Given the description of an element on the screen output the (x, y) to click on. 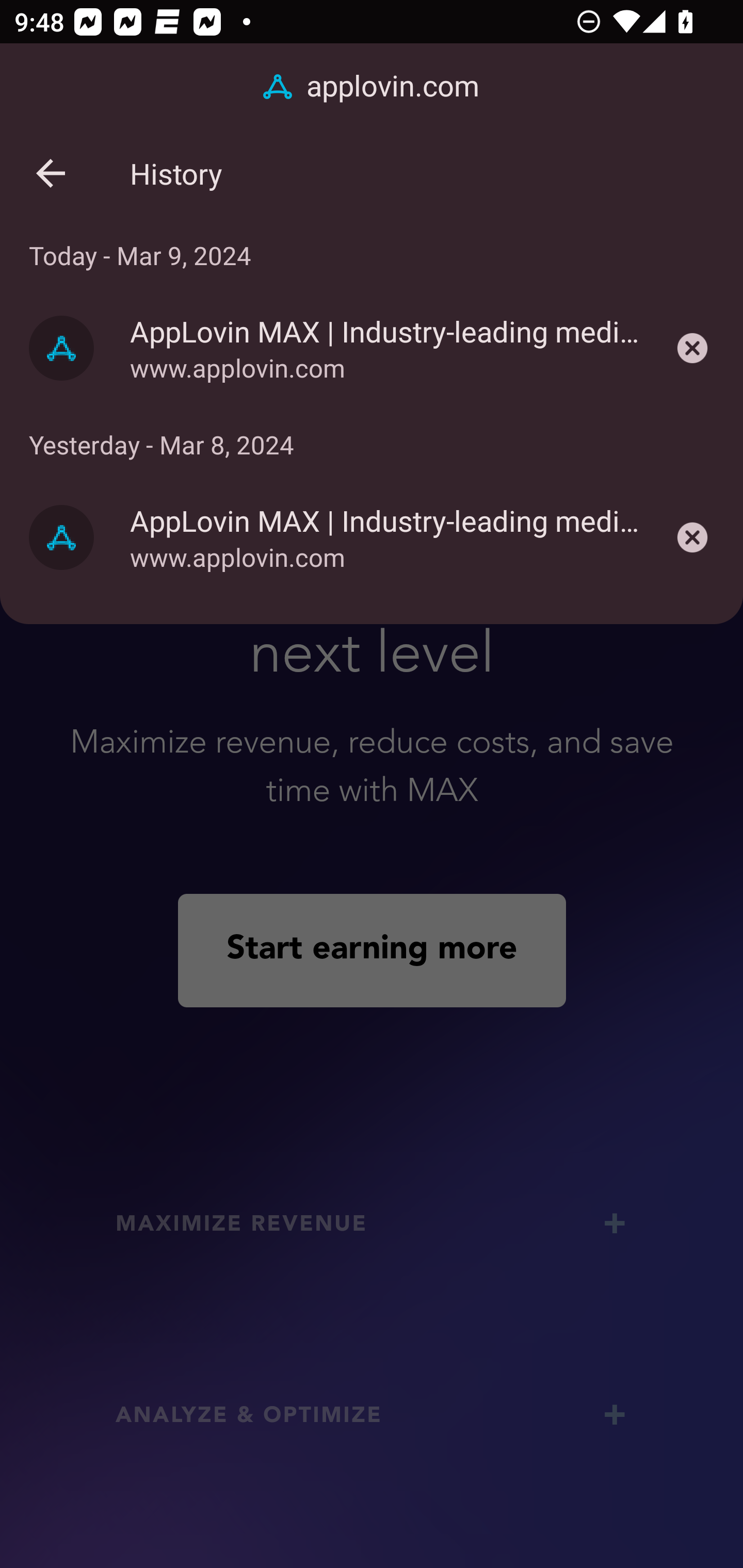
applovin.com (371, 86)
Back (50, 173)
